Given the description of an element on the screen output the (x, y) to click on. 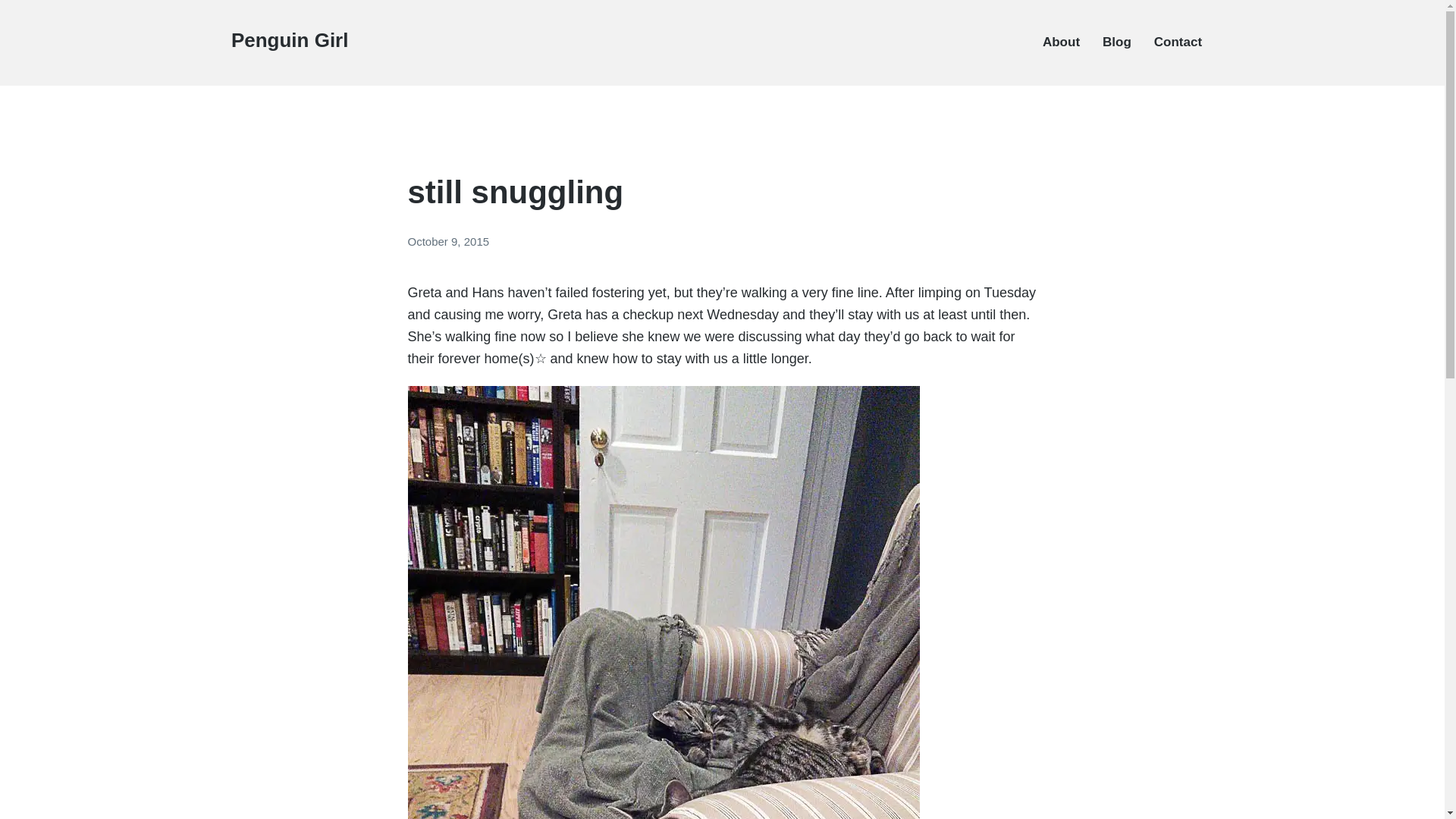
Contact (1178, 42)
Blog (1116, 42)
About (1061, 42)
Penguin Girl (290, 39)
